Given the description of an element on the screen output the (x, y) to click on. 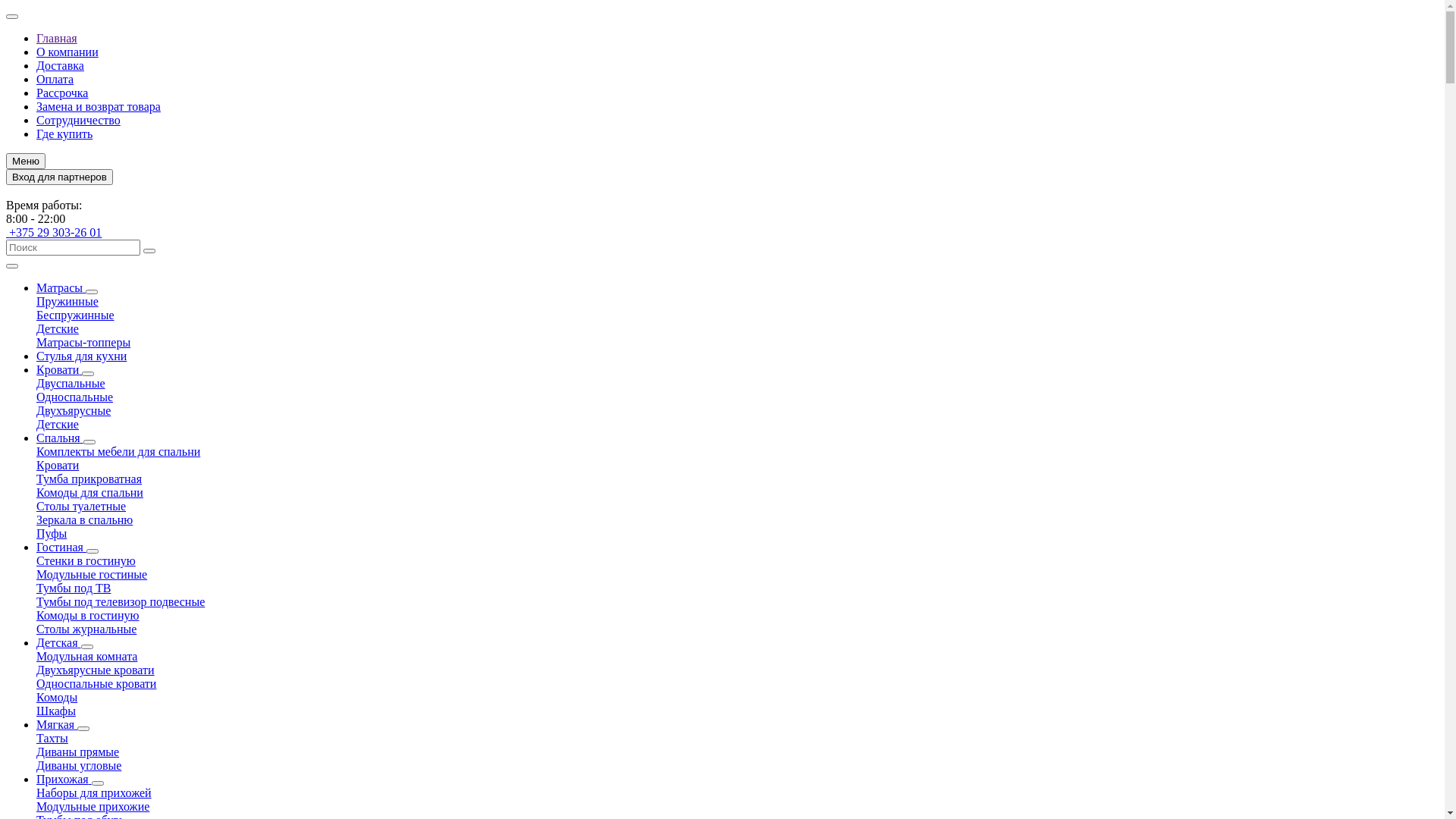
+375 29 303-26 01 Element type: text (53, 231)
